Given the description of an element on the screen output the (x, y) to click on. 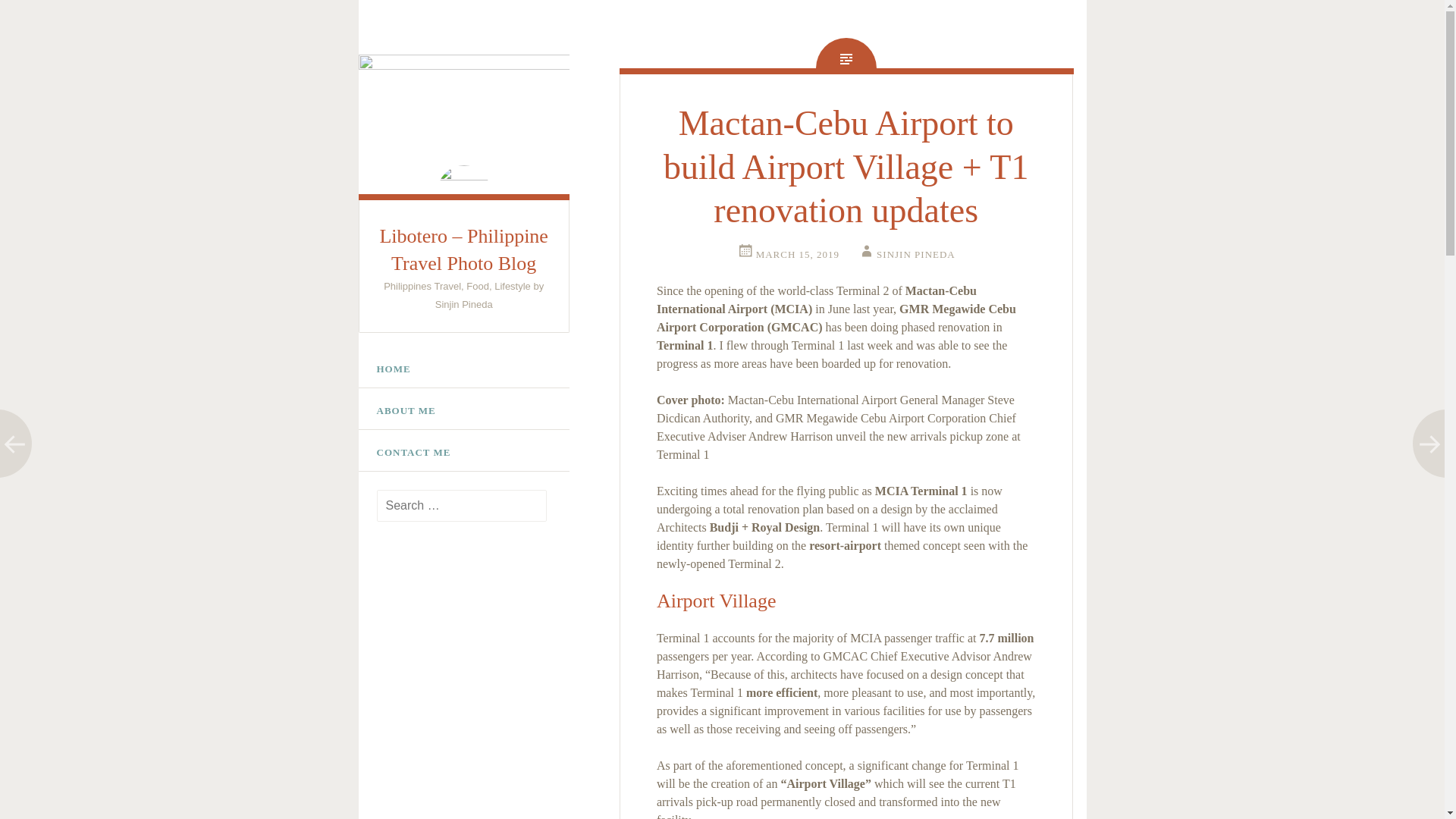
CONTACT ME (463, 452)
Search (37, 16)
MARCH 15, 2019 (788, 254)
HOME (463, 369)
SKIP TO CONTENT (376, 359)
View all posts by Sinjin Pineda (906, 254)
SINJIN PINEDA (906, 254)
9:31 pm (788, 254)
ABOUT ME (463, 411)
